Given the description of an element on the screen output the (x, y) to click on. 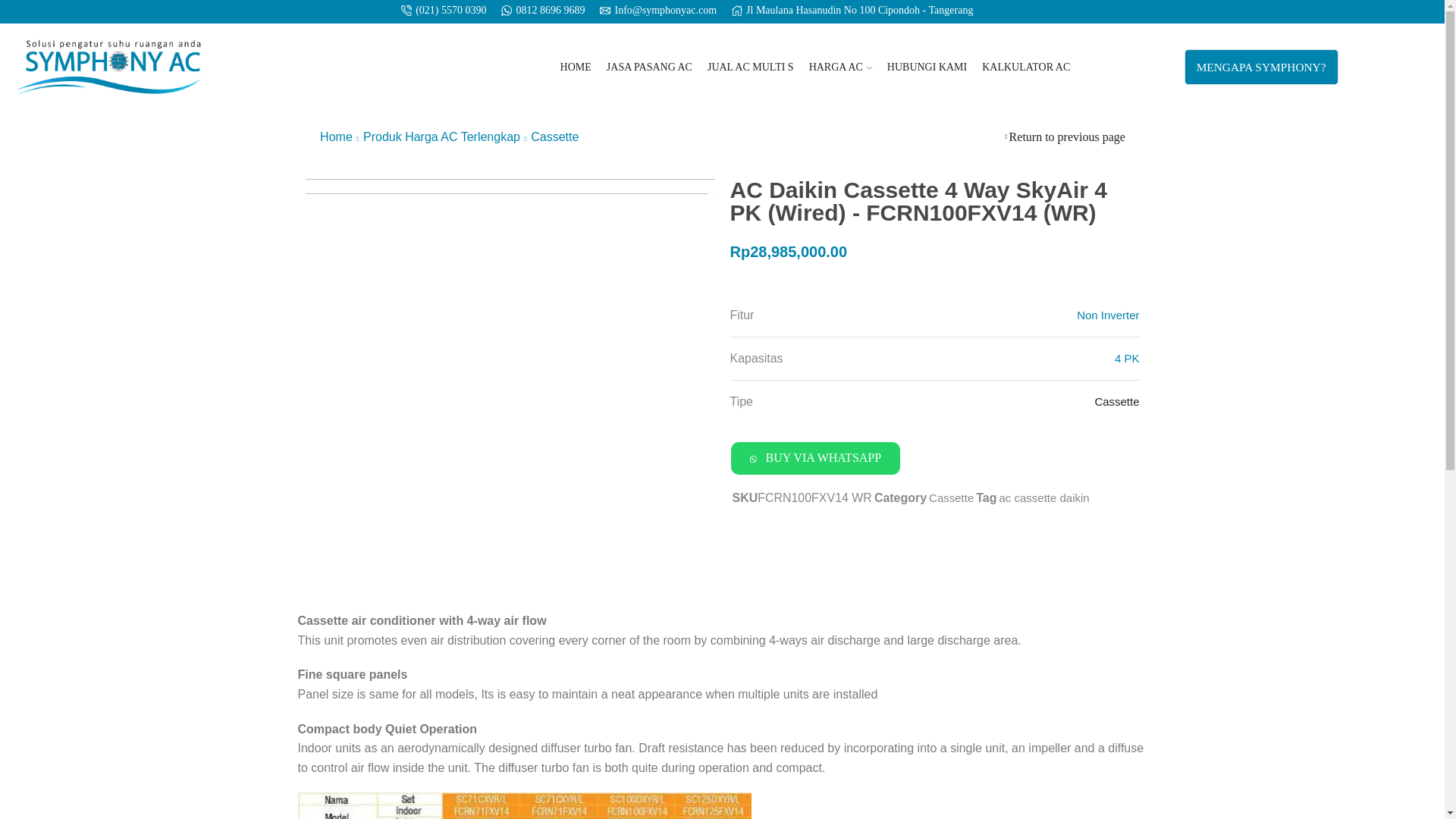
Cassette (554, 137)
KALKULATOR AC (1025, 66)
HUBUNGI KAMI (926, 66)
JUAL AC MULTI S (750, 66)
MENGAPA SYMPHONY? (1261, 67)
JASA PASANG AC (650, 66)
HOME (575, 66)
Cassette (1116, 400)
Home (335, 137)
Return to previous page (1067, 137)
HARGA AC (840, 66)
Produk Harga AC Terlengkap (441, 137)
